Given the description of an element on the screen output the (x, y) to click on. 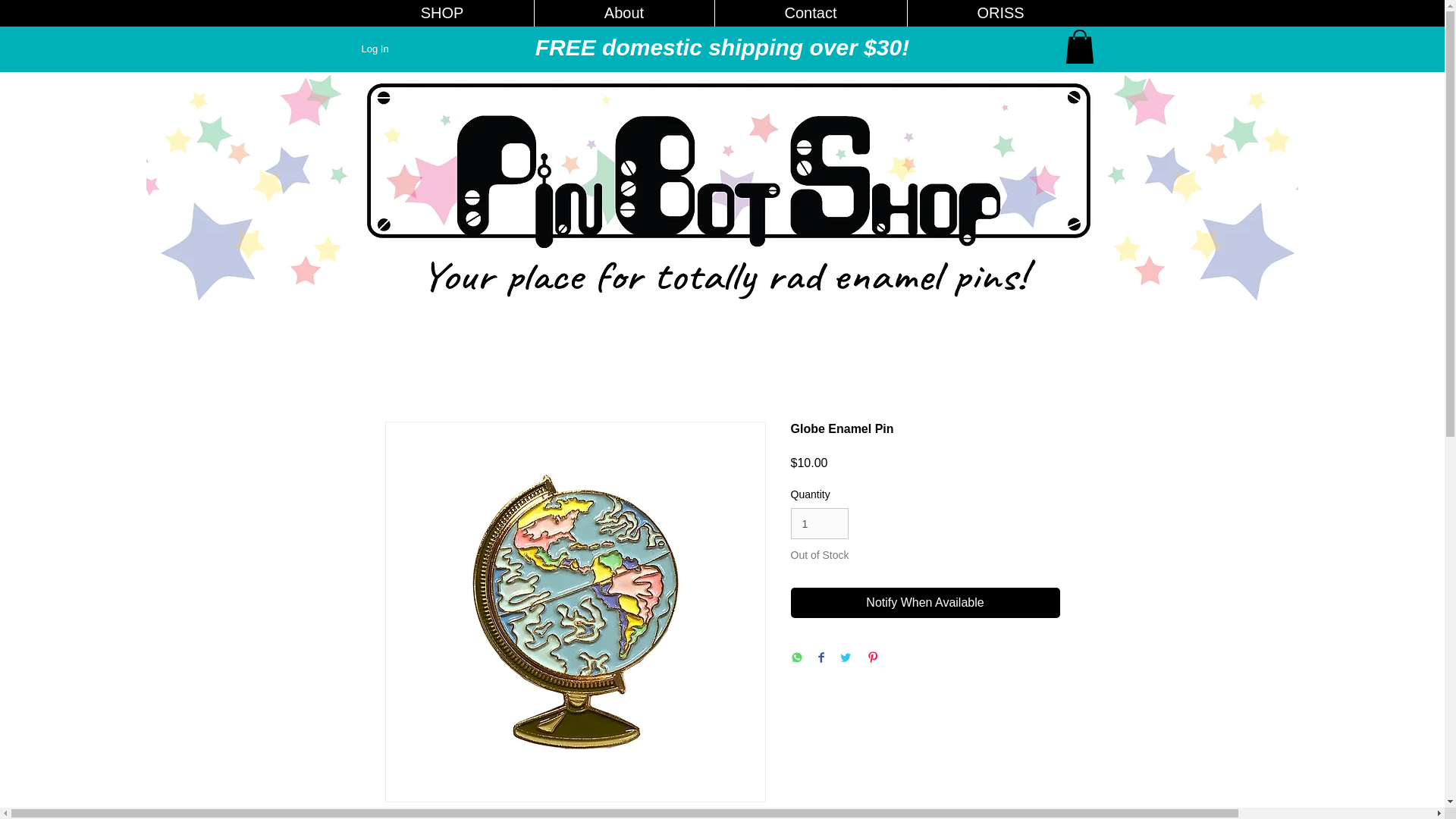
Log In (374, 48)
1 (818, 522)
ORISS (1000, 13)
Contact (810, 13)
About (624, 13)
Notify When Available (924, 603)
SHOP (441, 13)
